Given the description of an element on the screen output the (x, y) to click on. 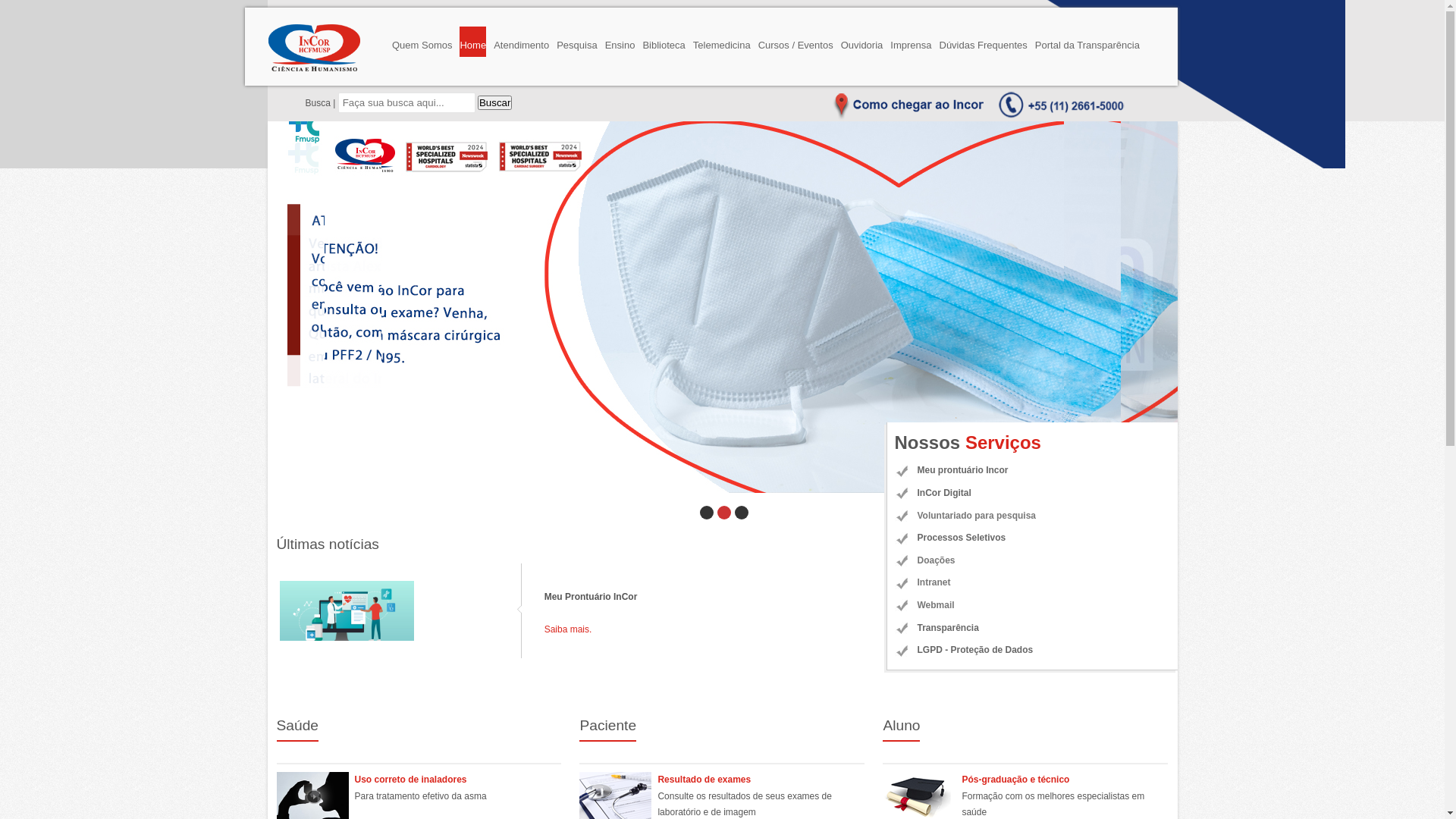
Home Element type: text (472, 41)
Ensino Element type: text (620, 41)
Intranet Element type: text (1032, 582)
Uso correto de inaladores Element type: text (410, 779)
InCor Digital Element type: text (1032, 493)
Webmail Element type: text (1032, 605)
Processos Seletivos Element type: text (1032, 538)
Pesquisa Element type: text (576, 41)
Voluntariado para pesquisa Element type: text (1032, 516)
Cursos / Eventos Element type: text (795, 41)
Telemedicina Element type: text (721, 41)
Ouvidoria Element type: text (861, 41)
Resultado de exames Element type: text (703, 779)
Saiba mais. Element type: text (568, 629)
Biblioteca Element type: text (663, 41)
Atendimento Element type: text (521, 41)
Buscar Element type: text (494, 102)
Quem Somos Element type: text (421, 41)
Imprensa Element type: text (910, 41)
